Given the description of an element on the screen output the (x, y) to click on. 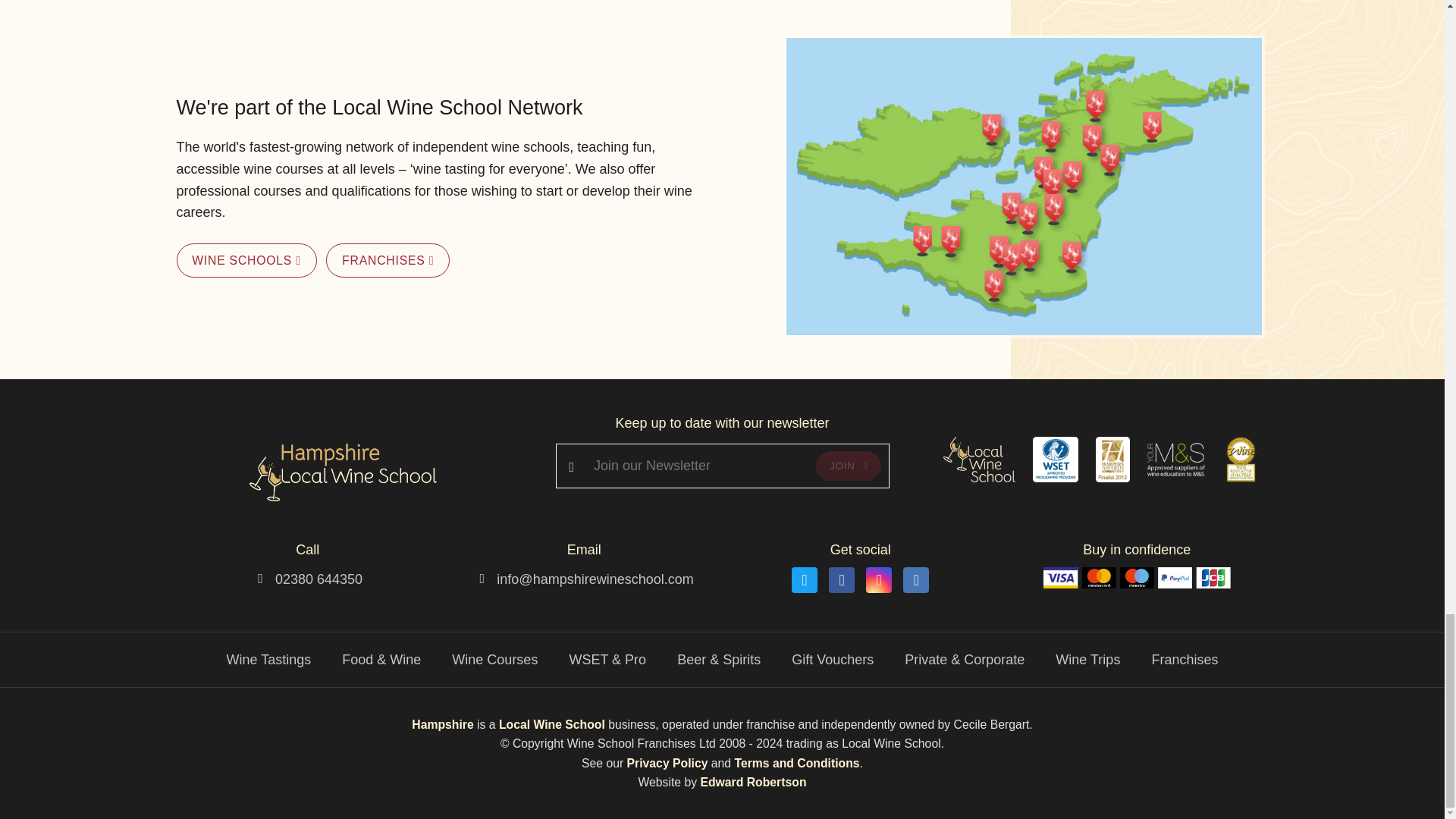
Visit our Twitter (804, 579)
Visit our Instagram (878, 579)
Visit our LinkedIn (915, 579)
Call us (318, 578)
Send us an email (594, 578)
Visit our Facebook (841, 579)
